Given the description of an element on the screen output the (x, y) to click on. 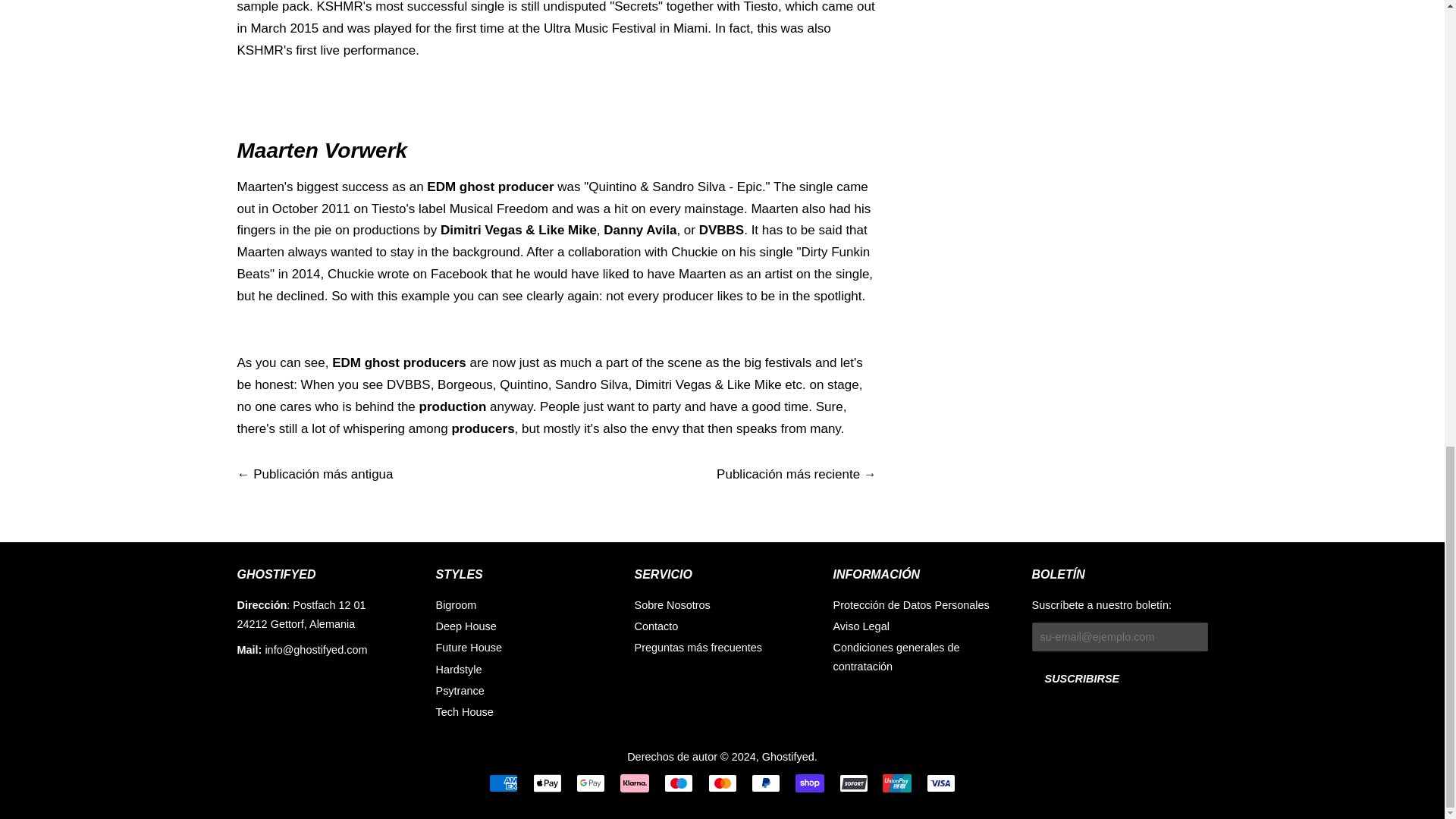
Klarna (634, 782)
Google Pay (590, 782)
Shop Pay (809, 782)
American Express (503, 782)
Mastercard (721, 782)
SOFORT (853, 782)
Maestro (678, 782)
Suscribirse (1081, 678)
Apple Pay (547, 782)
Union Pay (896, 782)
